Given the description of an element on the screen output the (x, y) to click on. 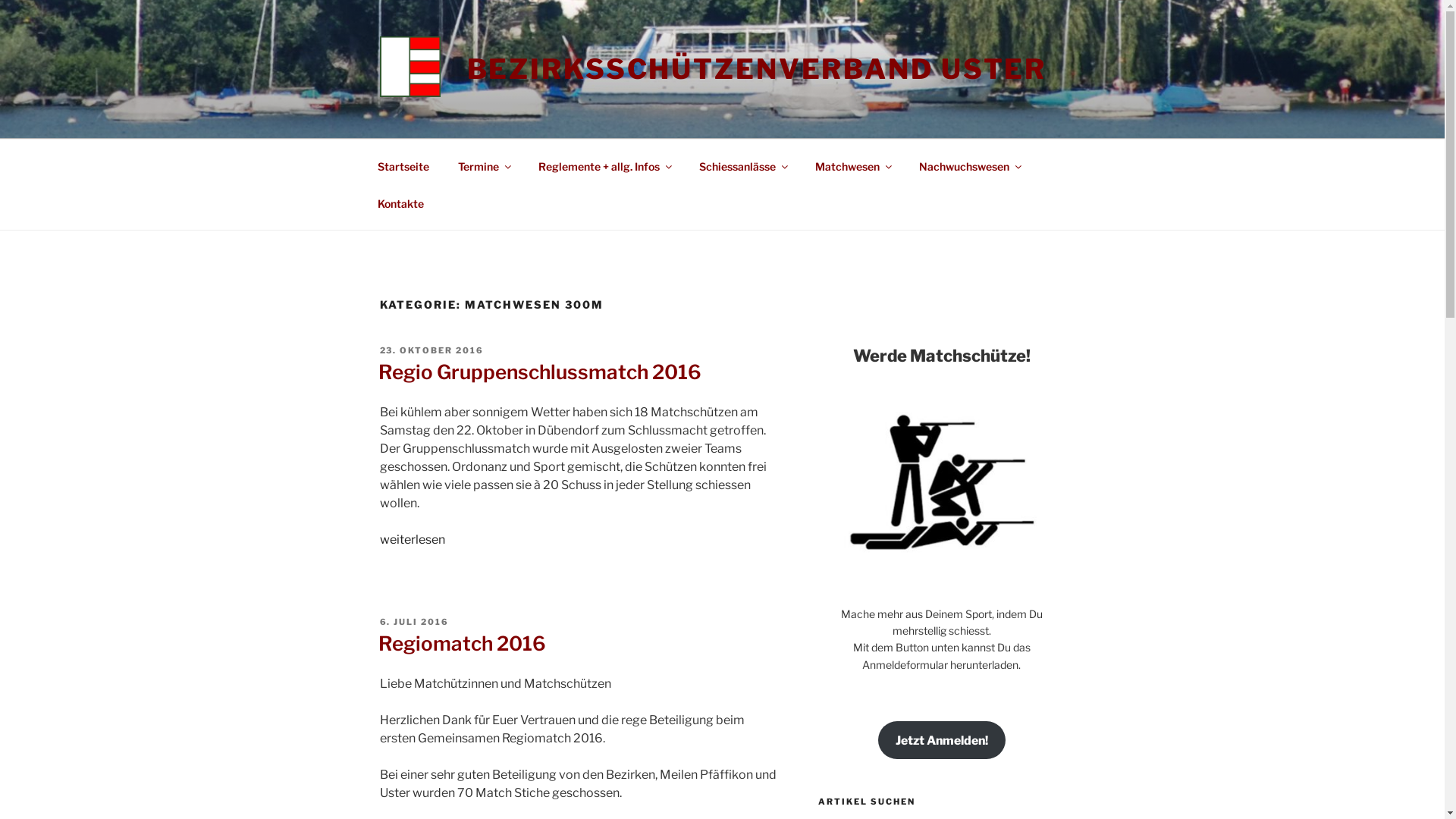
Regio Gruppenschlussmatch 2016 Element type: text (538, 371)
Nachwuchswesen Element type: text (968, 165)
23. OKTOBER 2016 Element type: text (431, 350)
Termine Element type: text (483, 165)
Jetzt Anmelden! Element type: text (941, 740)
Startseite Element type: text (403, 165)
Kontakte Element type: text (400, 203)
Matchwesen Element type: text (852, 165)
Regiomatch 2016 Element type: text (461, 643)
6. JULI 2016 Element type: text (413, 621)
Reglemente + allg. Infos Element type: text (603, 165)
